Given the description of an element on the screen output the (x, y) to click on. 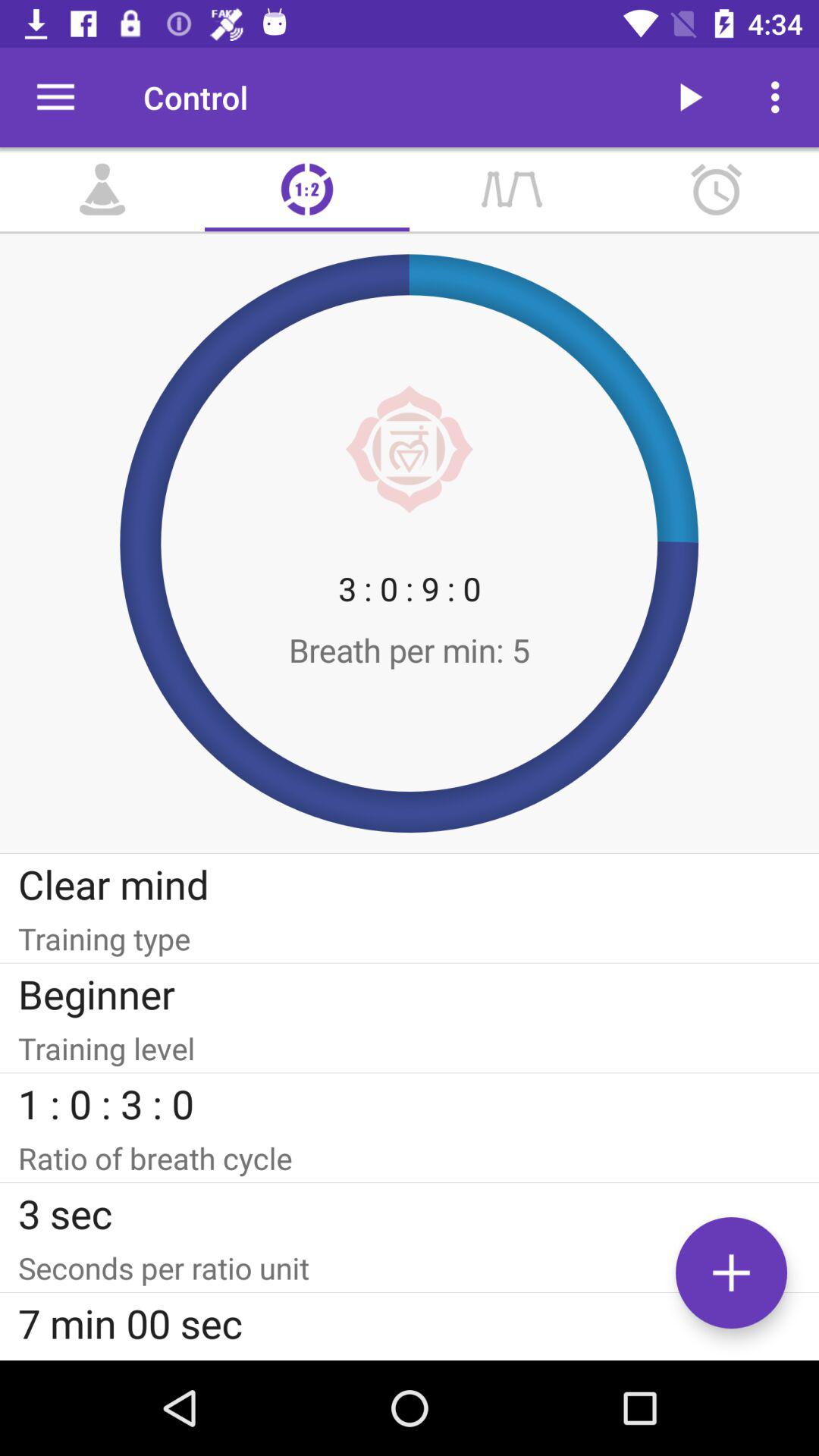
select item above the seconds per ratio (409, 1213)
